Given the description of an element on the screen output the (x, y) to click on. 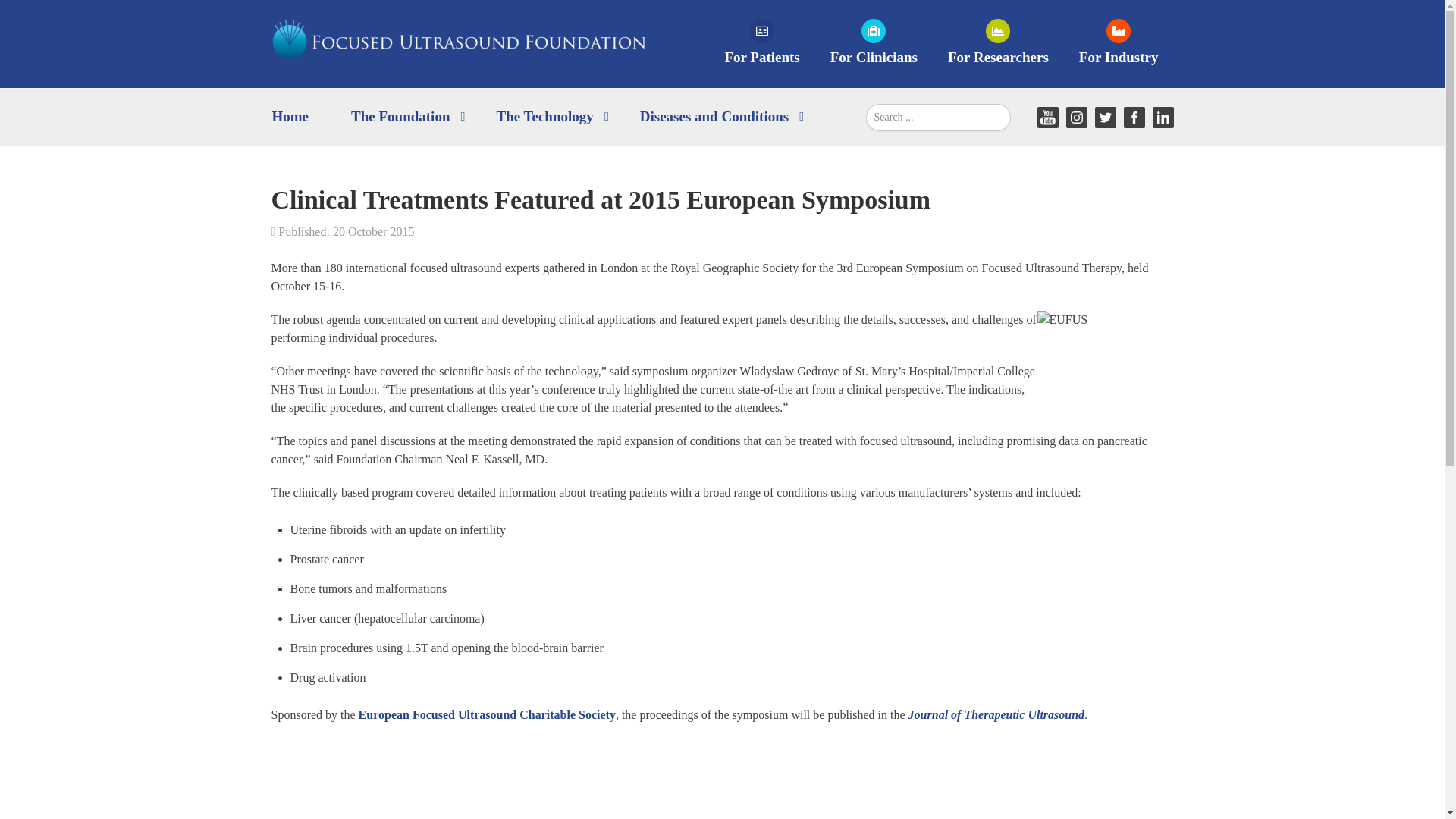
The Foundation (406, 116)
The Foundation (406, 116)
For Researchers (998, 43)
For Patients (761, 43)
For Clinicians (874, 43)
Home (293, 116)
Home (293, 116)
For Industry (1118, 43)
